Given the description of an element on the screen output the (x, y) to click on. 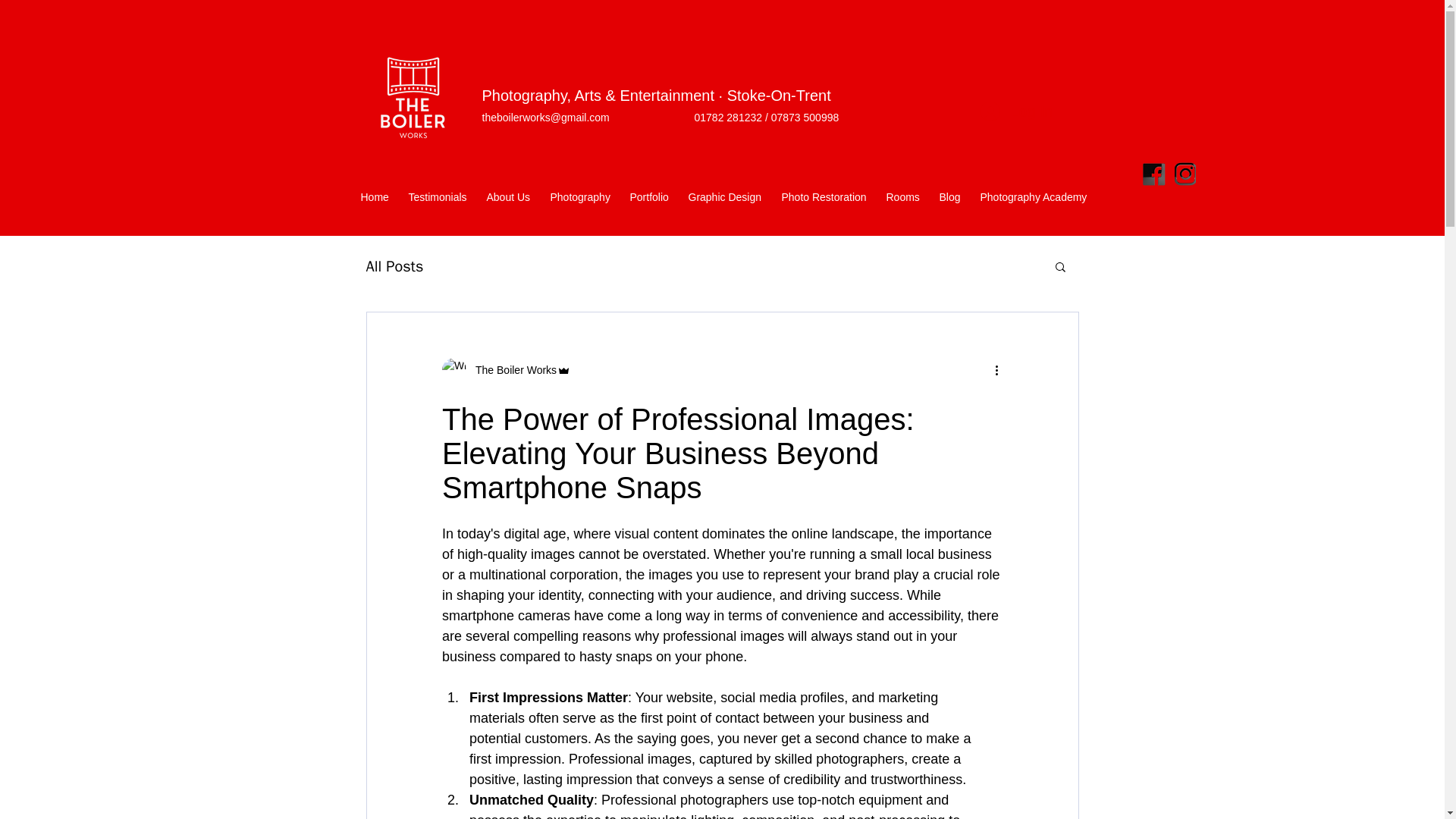
Graphic Design (724, 190)
Photography (580, 190)
All Posts (394, 266)
Rooms (903, 190)
Photo Restoration (823, 190)
Portfolio (649, 190)
Photography Academy (1034, 190)
Log In (1014, 111)
Testimonials (437, 190)
Home (373, 190)
The Boiler Works (510, 370)
The Boiler Works (506, 369)
Blog (950, 190)
About Us (508, 190)
